Given the description of an element on the screen output the (x, y) to click on. 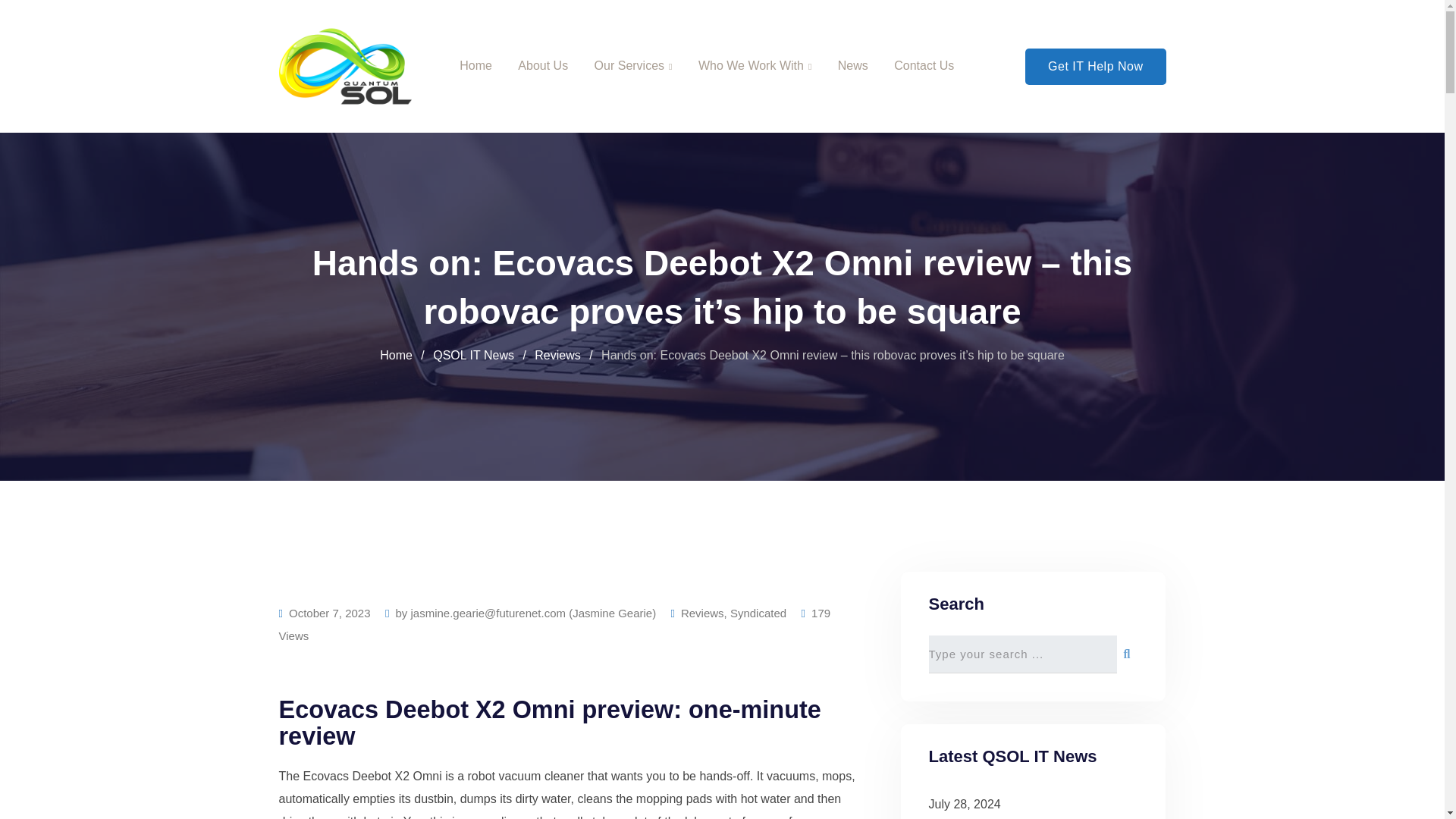
Get IT Help Now (1095, 66)
Home (396, 354)
QSOL IT News (472, 354)
Who We Work With (754, 65)
Go to QSOL IT News. (472, 354)
Go to QSOL IT. (396, 354)
Reviews (556, 354)
Reviews (702, 612)
Our Services (633, 65)
Go to the Reviews category archives. (556, 354)
